Given the description of an element on the screen output the (x, y) to click on. 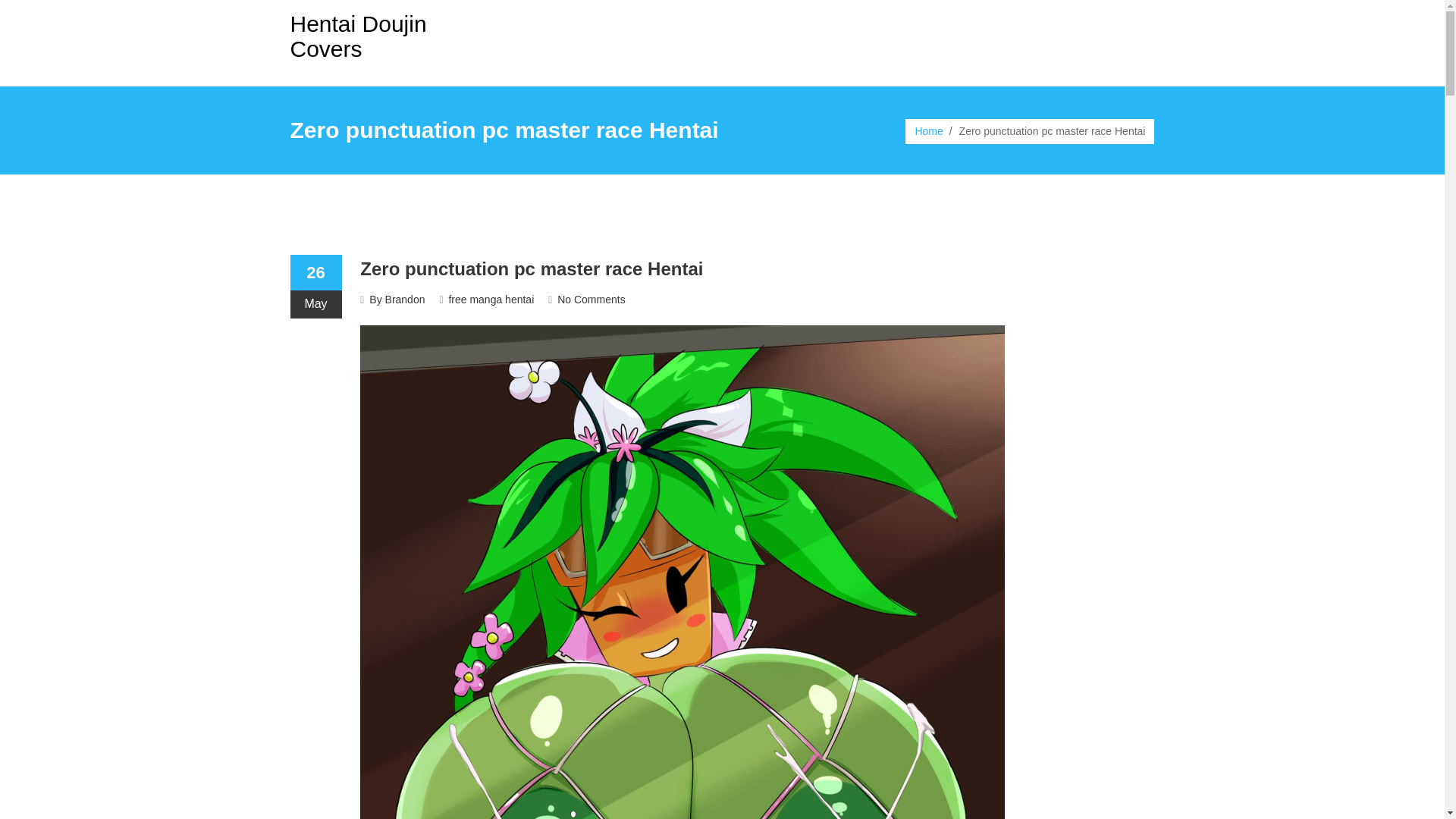
No Comments (590, 299)
Hentai Doujin Covers (357, 36)
Zero punctuation pc master race Hentai (531, 268)
Home (928, 131)
Brandon (405, 299)
free manga hentai (491, 299)
